Given the description of an element on the screen output the (x, y) to click on. 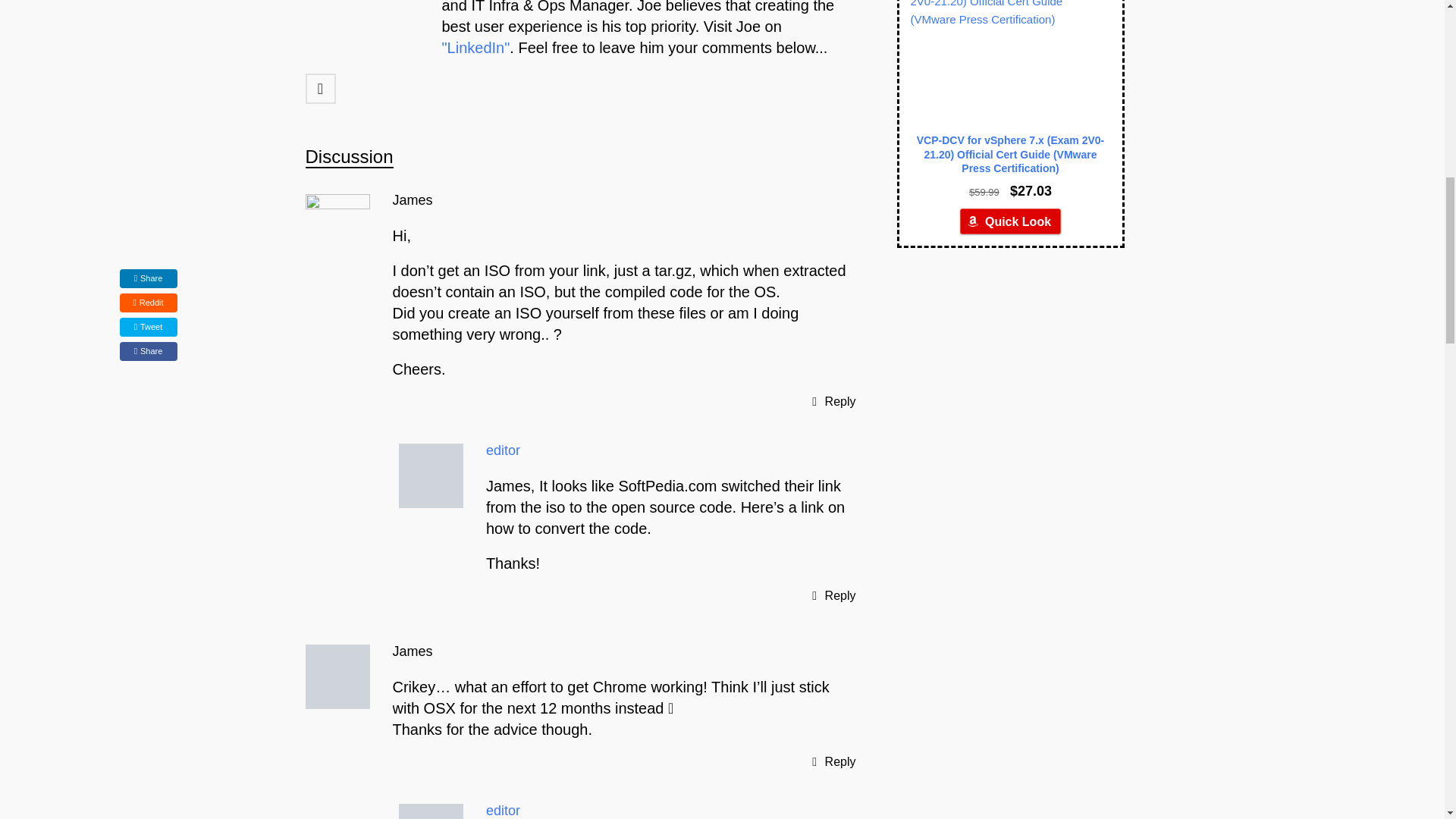
Reply (840, 761)
editor (502, 810)
Reply (840, 594)
"LinkedIn" (475, 47)
Reply (840, 400)
editor (502, 450)
